Given the description of an element on the screen output the (x, y) to click on. 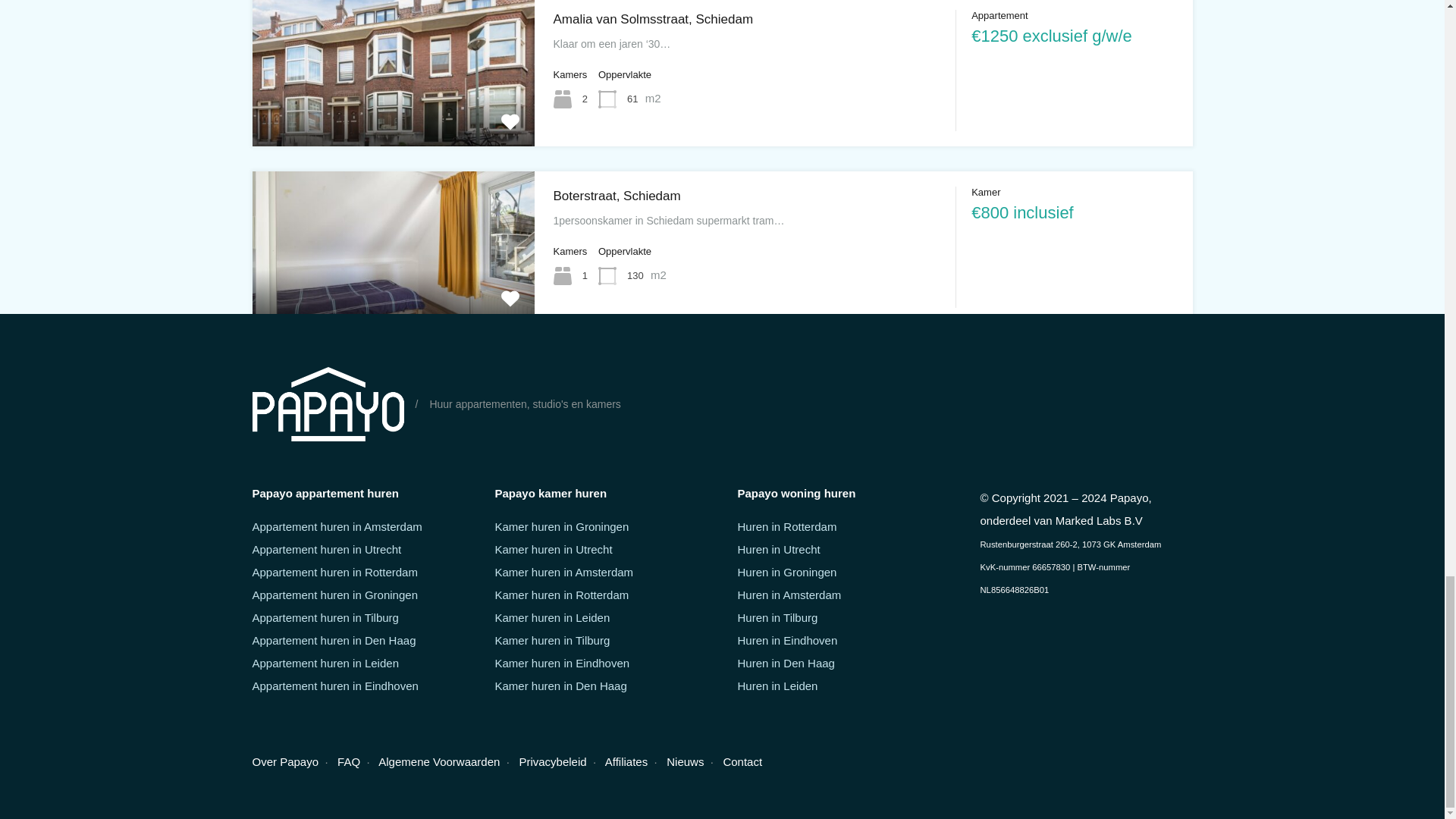
Appartement huren in Utrecht (326, 549)
Kamer huren in Tilburg (552, 640)
Kamer huren in Amsterdam (564, 571)
Appartement huren in Eindhoven (334, 685)
Kamer huren in Groningen (561, 526)
Appartement huren in Tilburg (324, 617)
Appartement huren in Den Haag (332, 640)
Kamer huren in Leiden (552, 617)
Kamer huren in Rotterdam (561, 594)
Appartement huren in Amsterdam (336, 526)
Kamer huren in Utrecht (553, 549)
Appartement huren in Rotterdam (333, 571)
Appartement huren in Groningen (333, 594)
Papayo (327, 403)
Appartement huren in Leiden (324, 662)
